Given the description of an element on the screen output the (x, y) to click on. 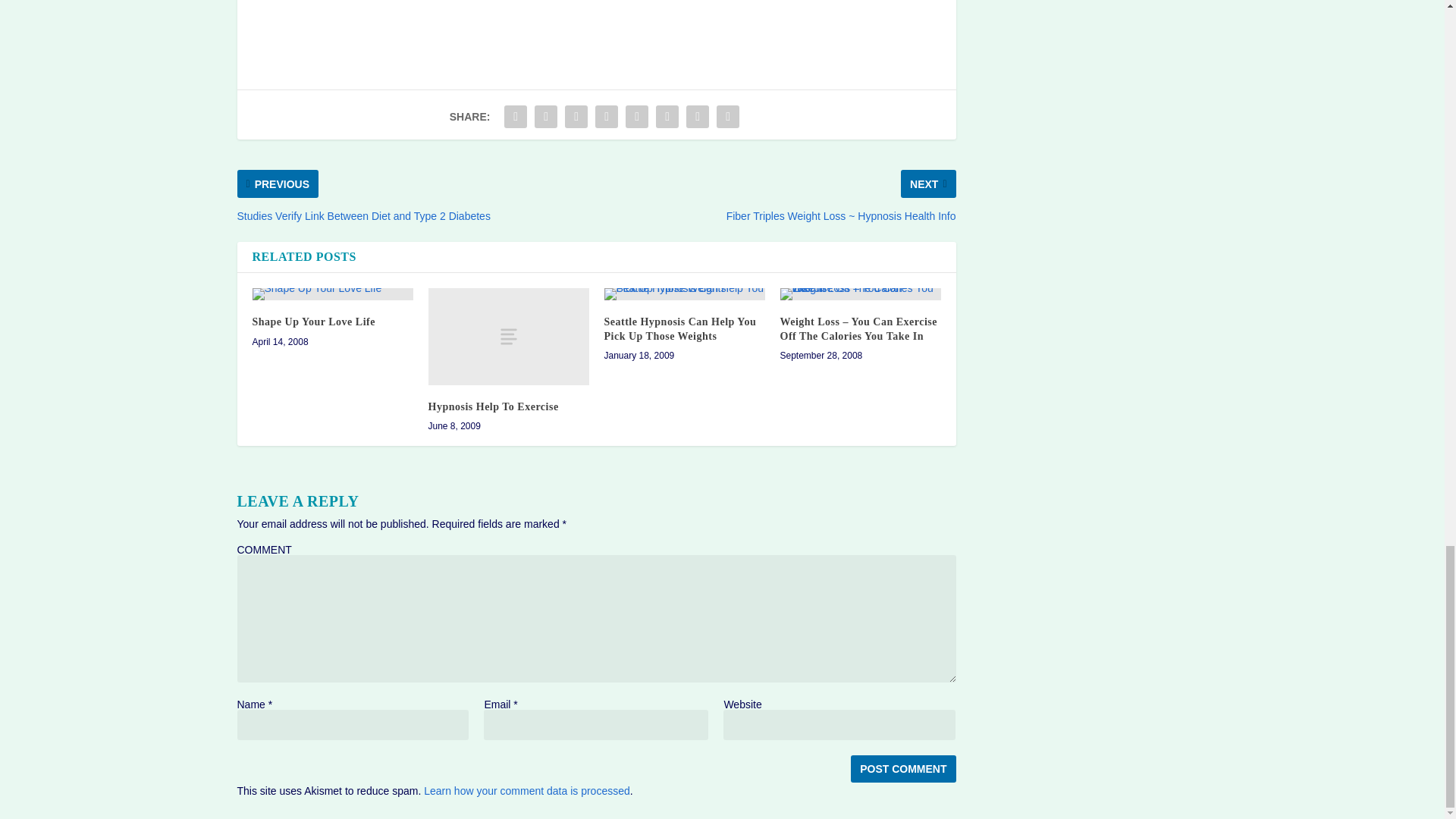
Post Comment (902, 768)
